Given the description of an element on the screen output the (x, y) to click on. 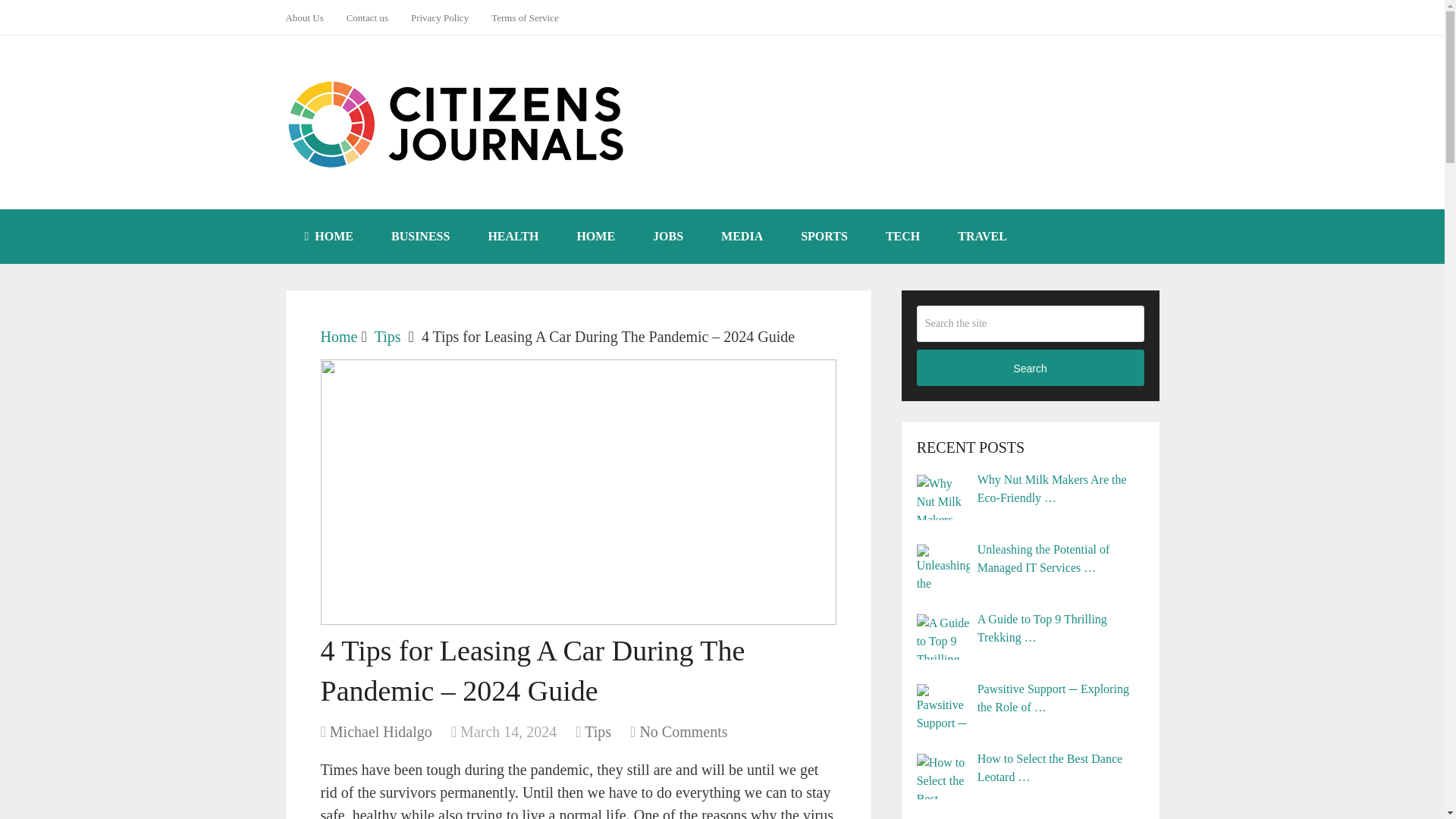
Michael Hidalgo (381, 731)
HOME (595, 236)
TRAVEL (982, 236)
No Comments (682, 731)
SPORTS (823, 236)
Posts by Michael Hidalgo (381, 731)
HEALTH (512, 236)
Privacy Policy (439, 17)
Contact us (366, 17)
Terms of Service (525, 17)
